Given the description of an element on the screen output the (x, y) to click on. 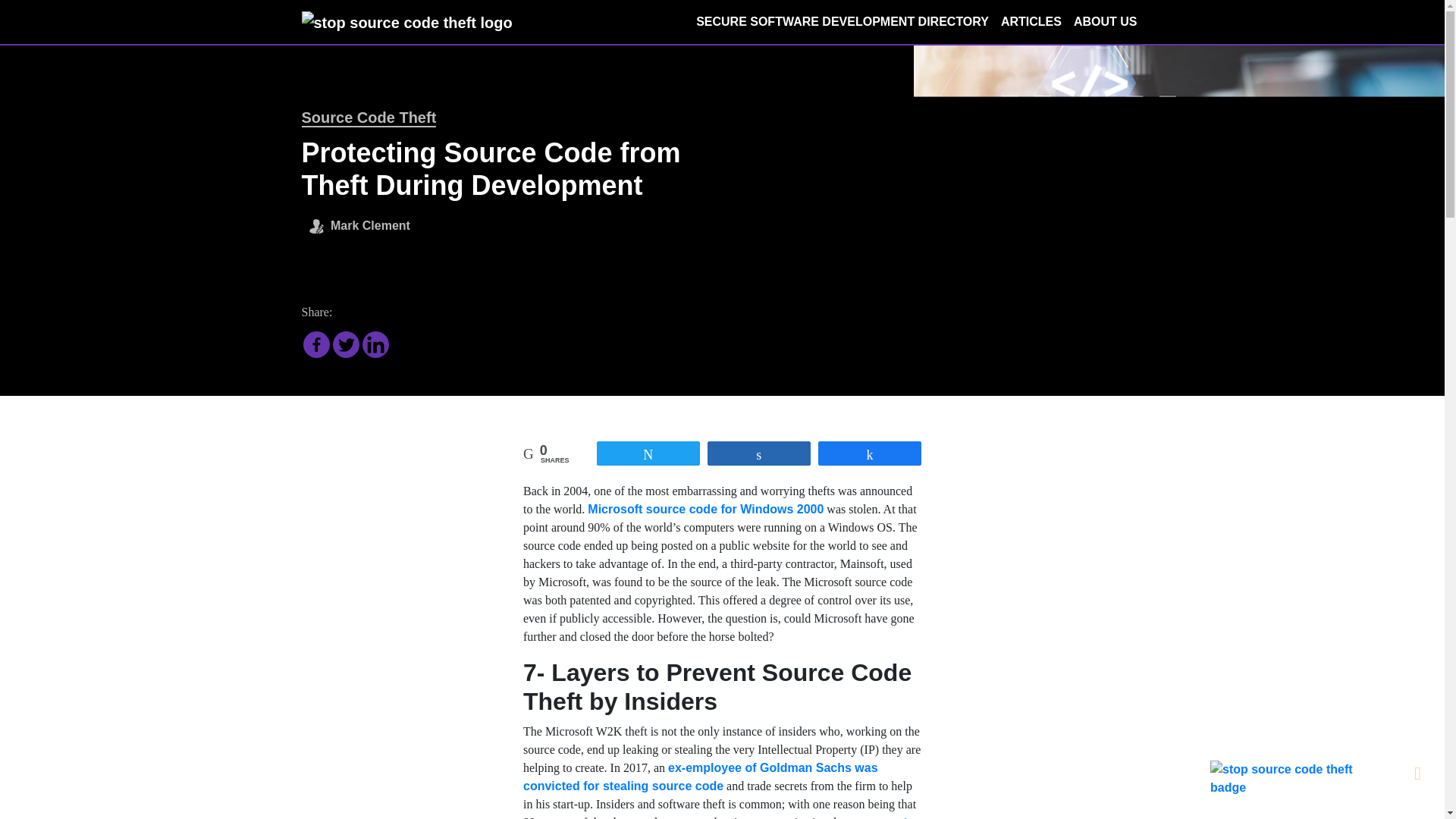
ABOUT US (1104, 21)
Posts by Mark Clement (368, 223)
SECURE SOFTWARE DEVELOPMENT DIRECTORY (842, 21)
Microsoft source code for Windows 2000 (706, 508)
Facebook (316, 344)
Linkedin (375, 344)
Source Code Theft (368, 117)
Mark Clement (368, 223)
Twitter (344, 344)
